Given the description of an element on the screen output the (x, y) to click on. 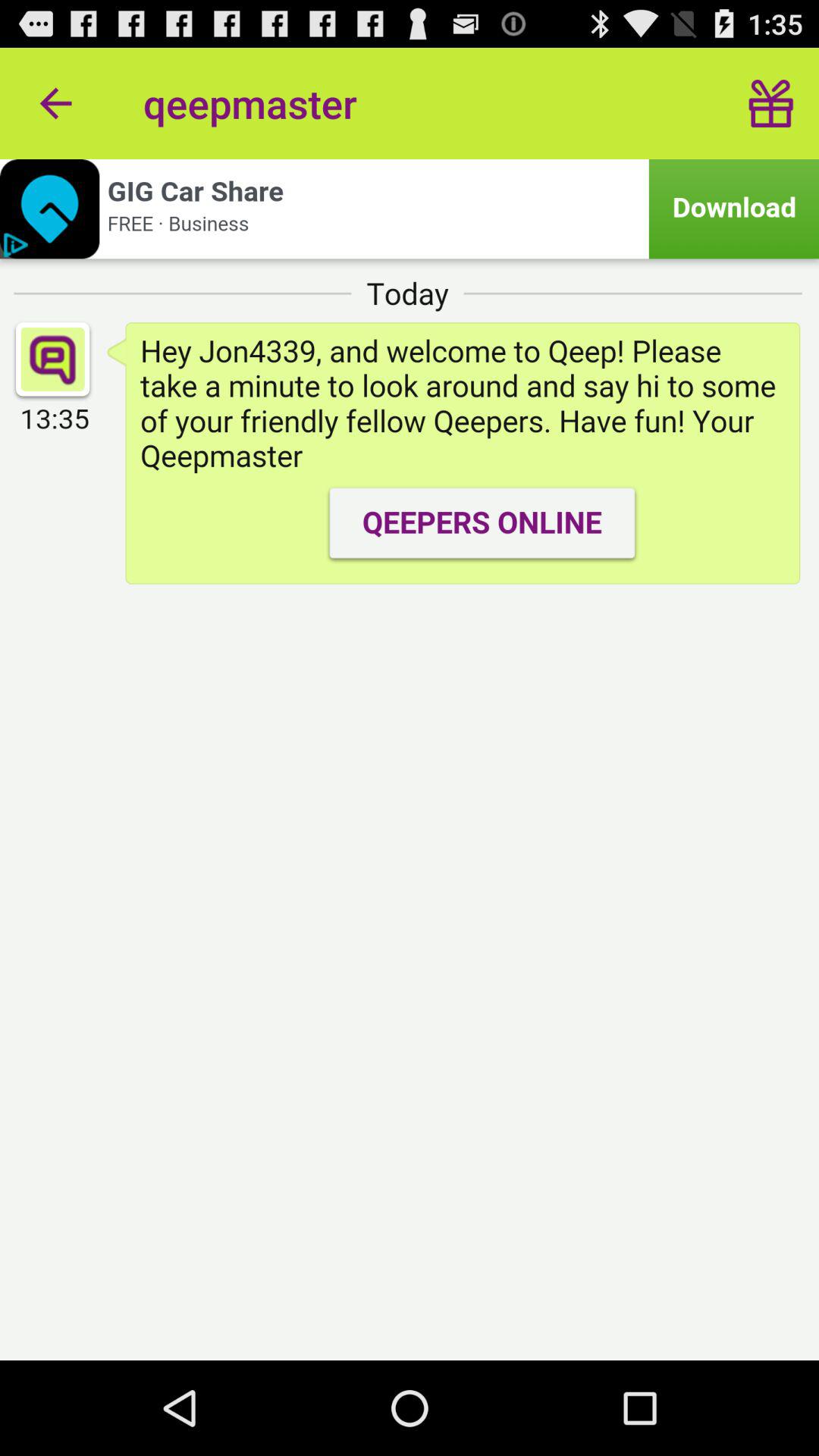
searching the file given (409, 208)
